Given the description of an element on the screen output the (x, y) to click on. 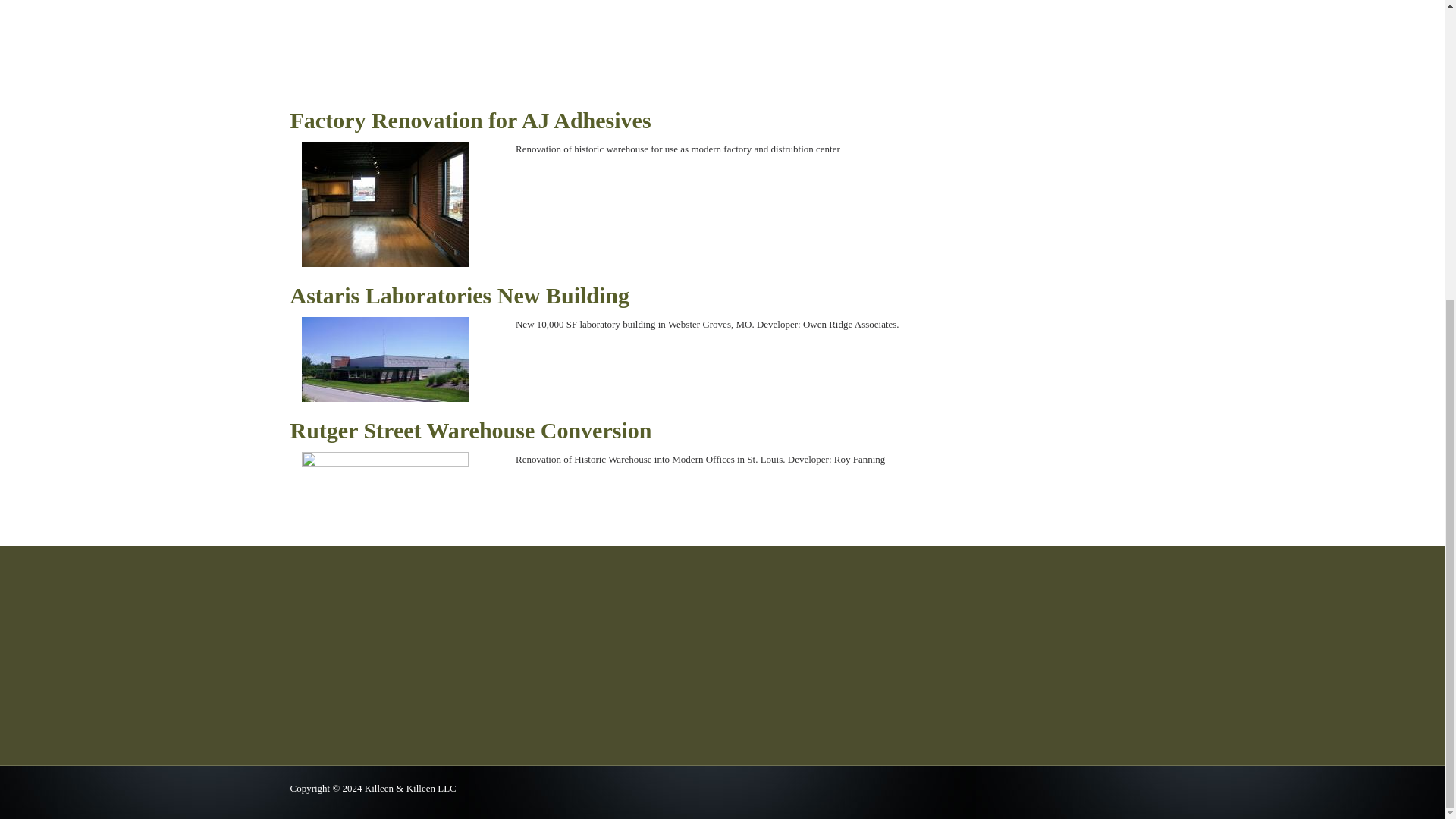
Astaris Laboratories New Building (611, 295)
Factory Renovation for AJ Adhesives (611, 120)
Rutger Street Warehouse Conversion (611, 430)
